Given the description of an element on the screen output the (x, y) to click on. 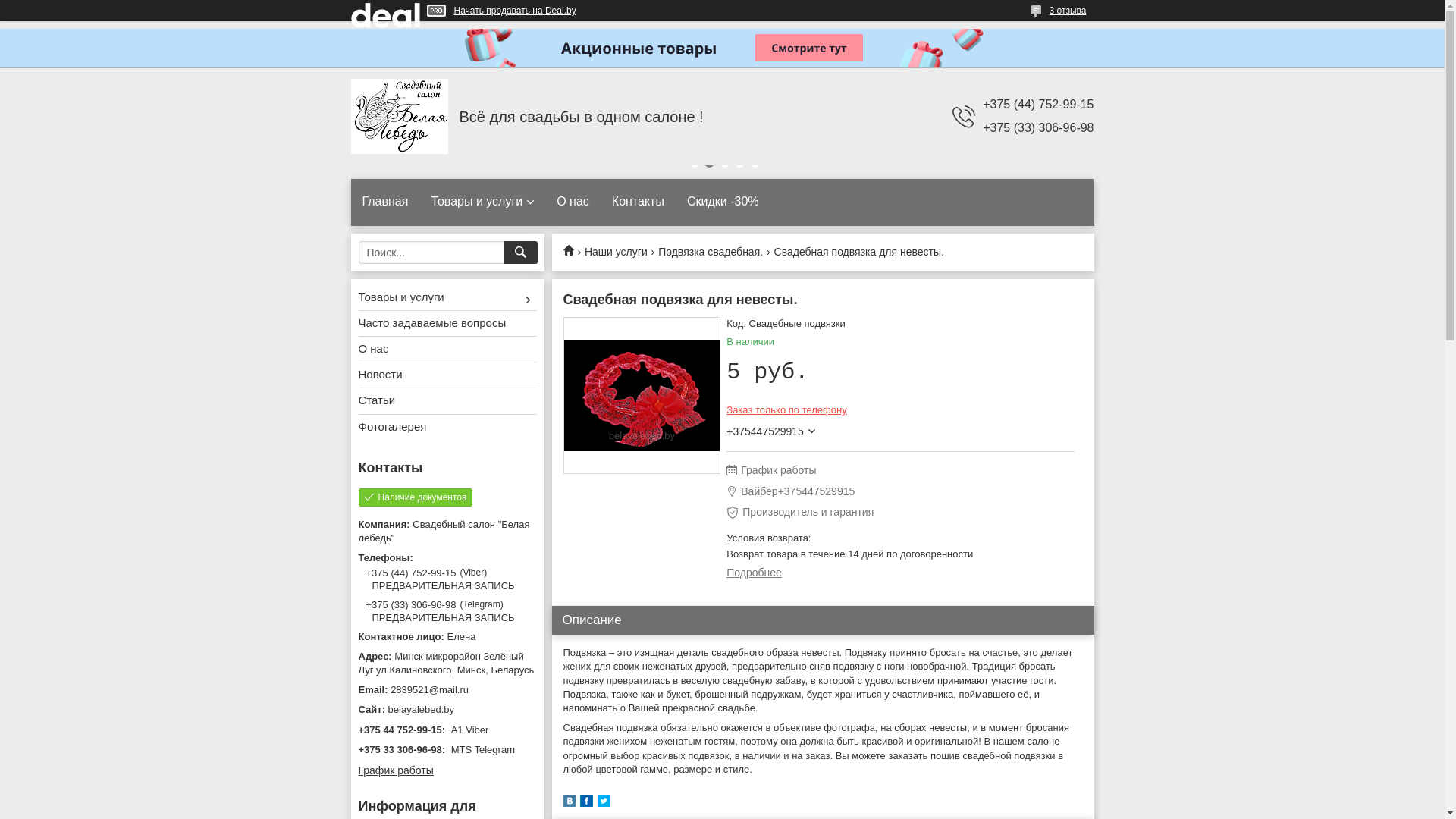
facebook Element type: hover (585, 803)
2839521@mail.ru Element type: text (446, 689)
belayalebed.by Element type: text (446, 709)
twitter Element type: hover (603, 803)
